Given the description of an element on the screen output the (x, y) to click on. 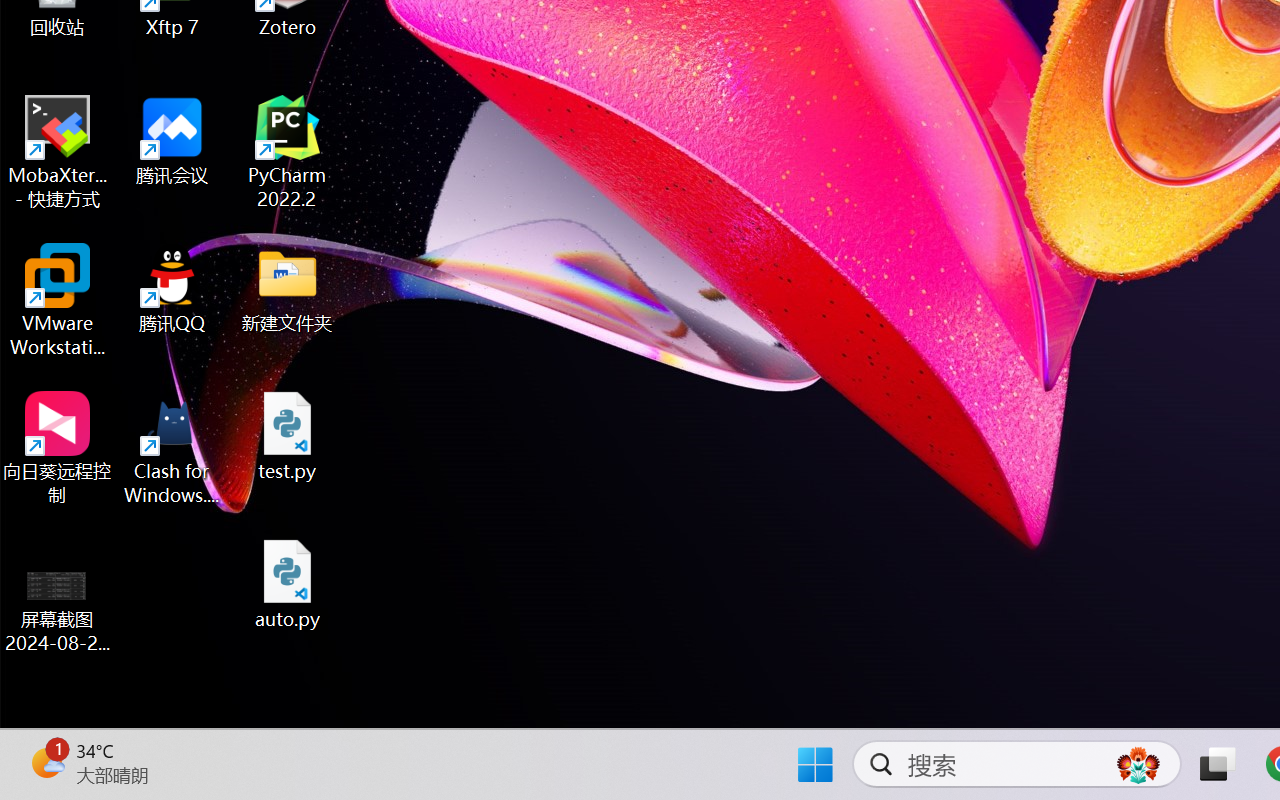
auto.py (287, 584)
